Given the description of an element on the screen output the (x, y) to click on. 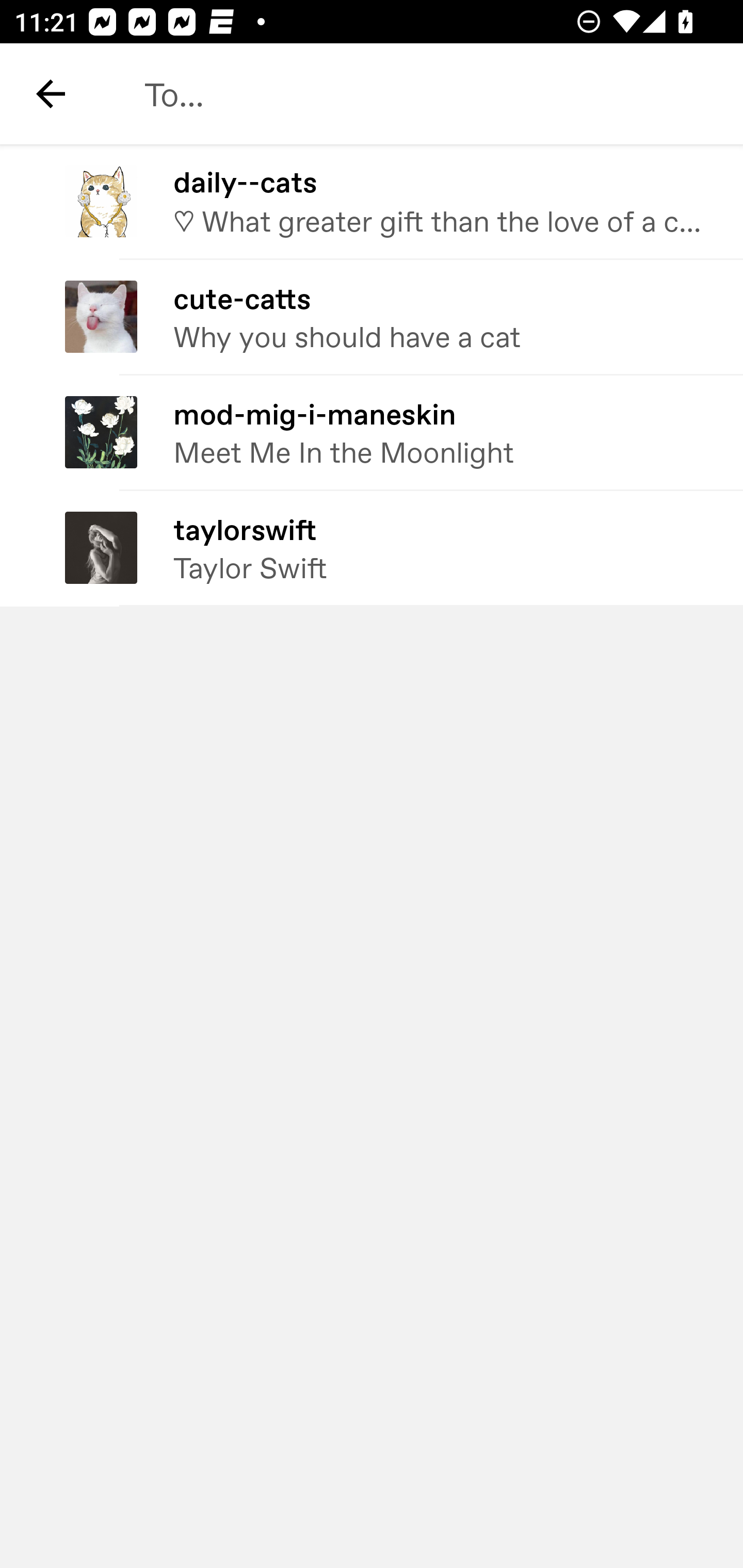
Navigate up (50, 93)
To… (422, 93)
cute-catts Why you should have a cat (371, 317)
mod-mig-i-maneskin Meet Me In the Moonlight (371, 432)
taylorswift Taylor Swift (371, 548)
